Given the description of an element on the screen output the (x, y) to click on. 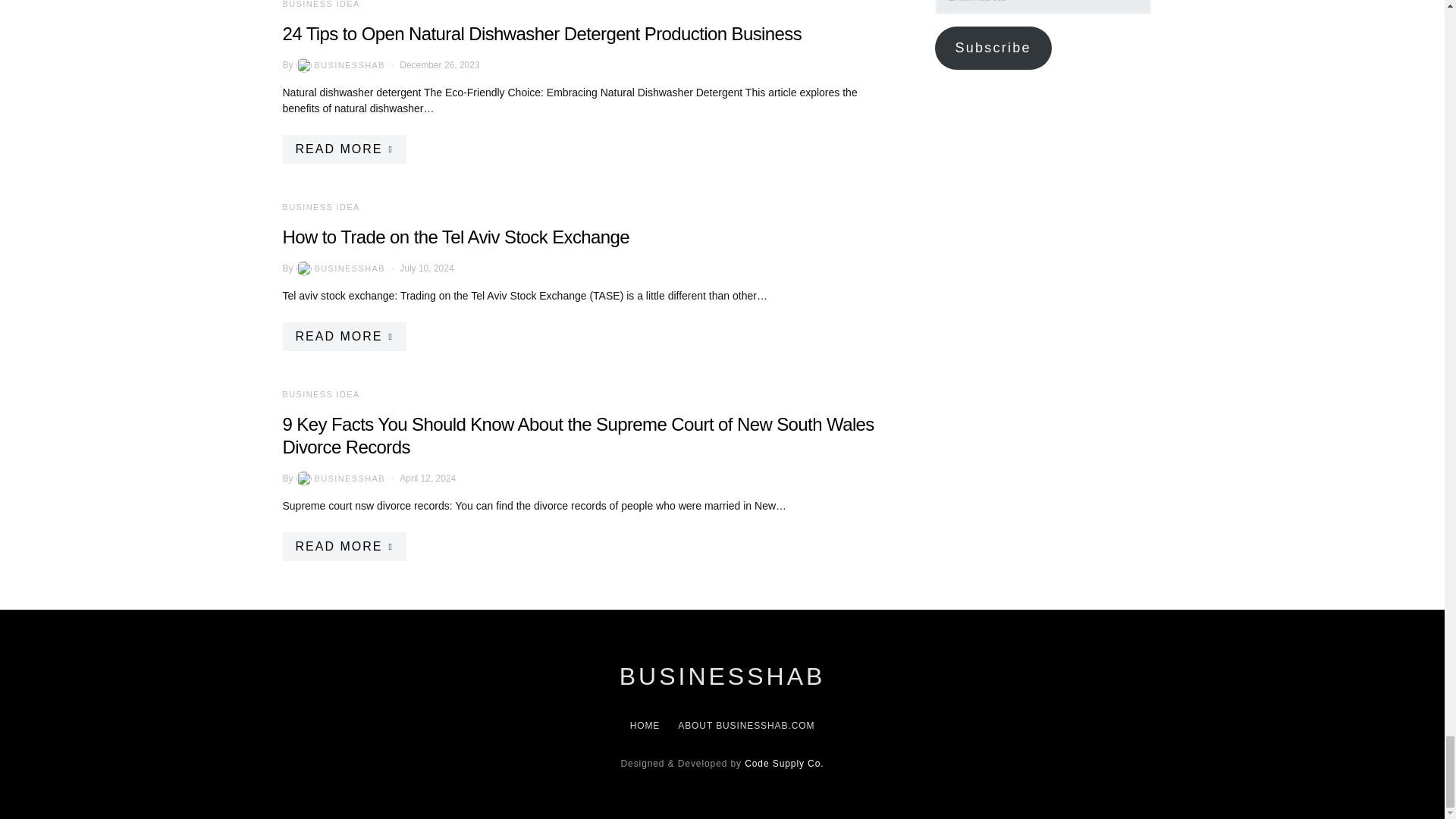
View all posts by BusinessHAB (339, 64)
